Given the description of an element on the screen output the (x, y) to click on. 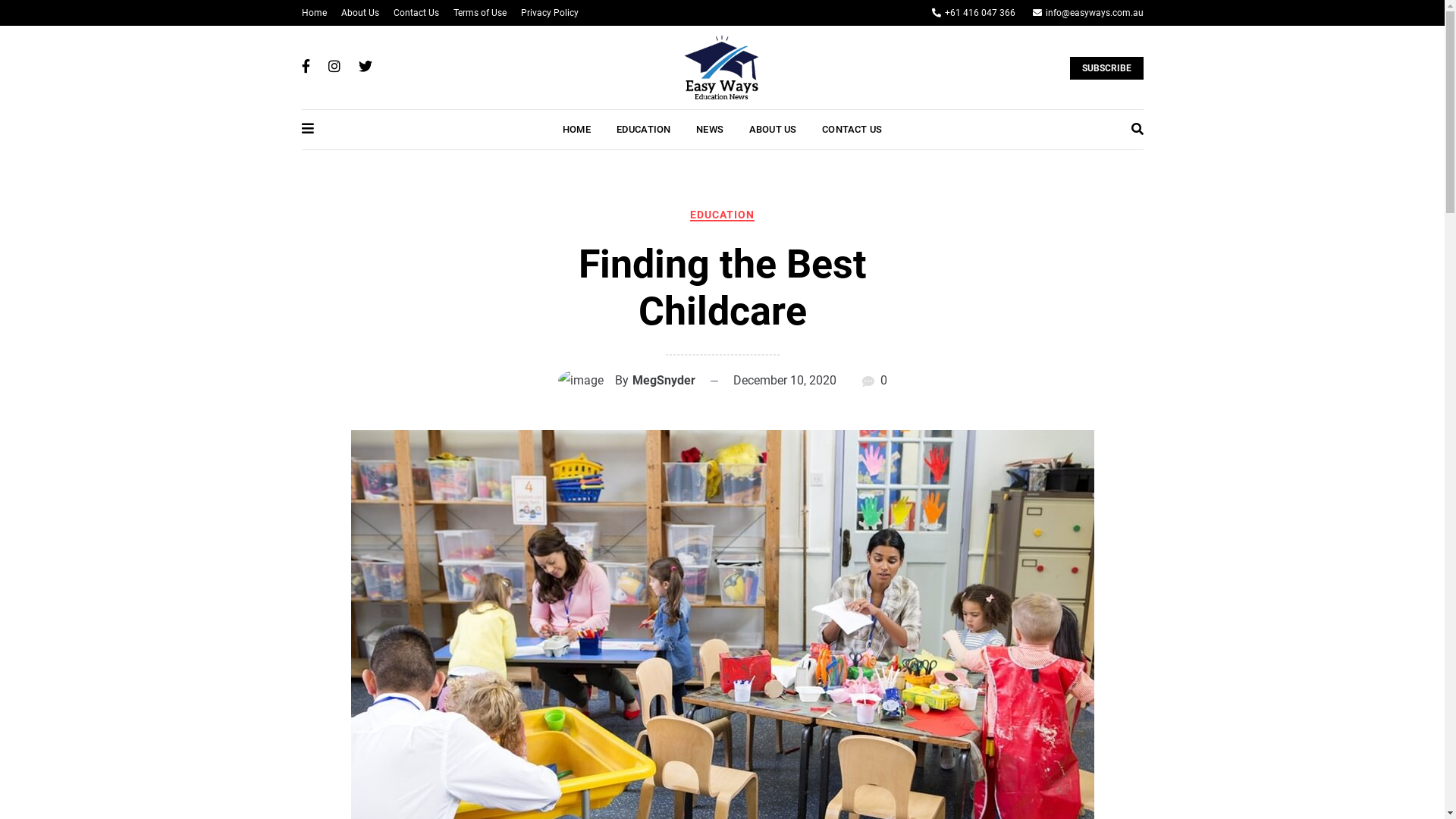
Logo Element type: hover (719, 67)
NEWS Element type: text (709, 129)
Home Element type: text (313, 12)
EDUCATION Element type: text (643, 129)
SUBSCRIBE Element type: text (1105, 67)
MegSnyder Element type: text (663, 380)
EDUCATION Element type: text (722, 214)
0 Element type: text (882, 380)
About Us Element type: text (360, 12)
Privacy Policy Element type: text (548, 12)
ABOUT US Element type: text (772, 129)
Contact Us Element type: text (415, 12)
Terms of Use Element type: text (479, 12)
HOME Element type: text (576, 129)
CONTACT US Element type: text (851, 129)
